Given the description of an element on the screen output the (x, y) to click on. 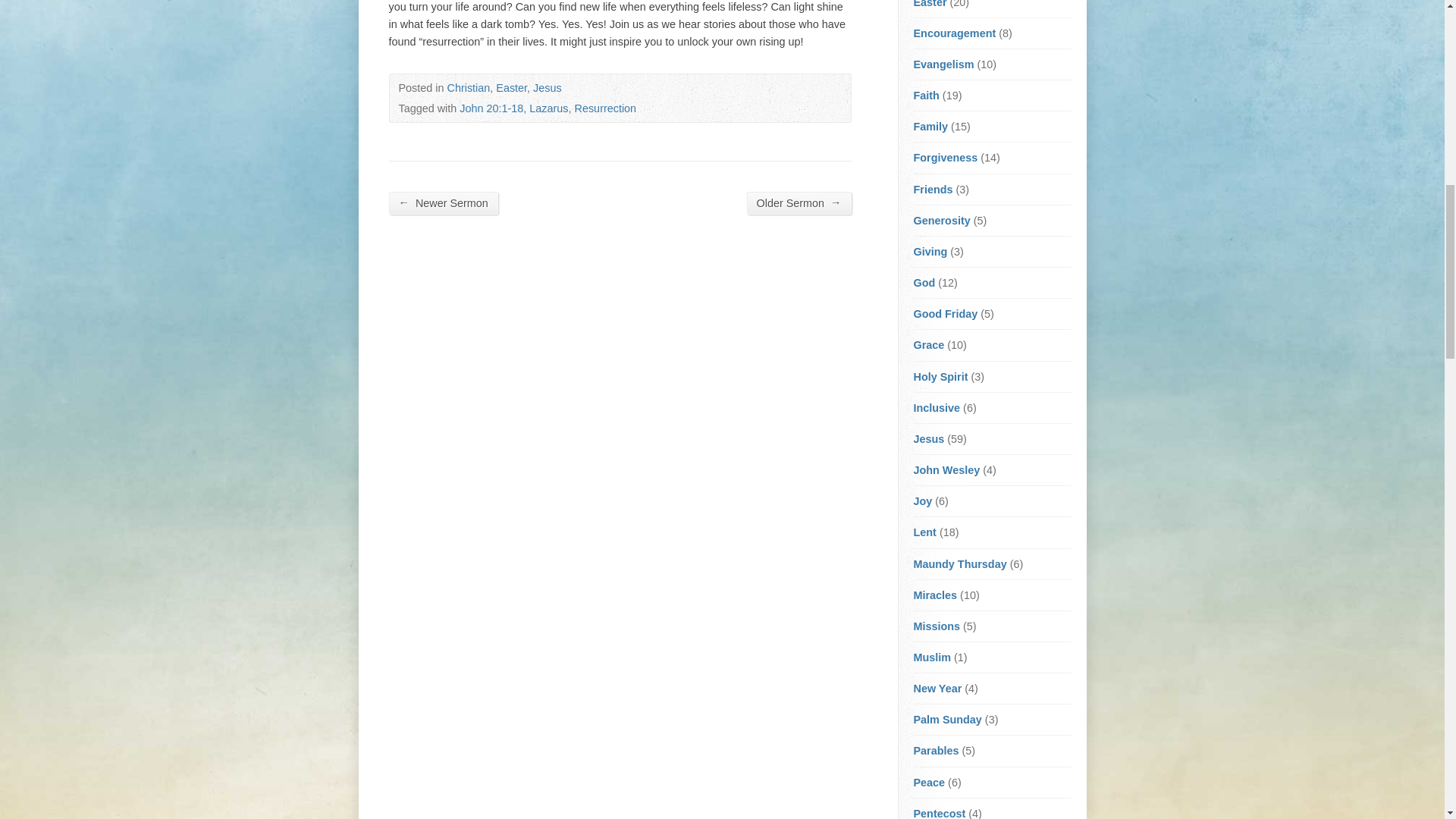
Christian (468, 87)
Lazarus (548, 107)
Easter (511, 87)
John 20:1-18 (491, 107)
Jesus (547, 87)
